Given the description of an element on the screen output the (x, y) to click on. 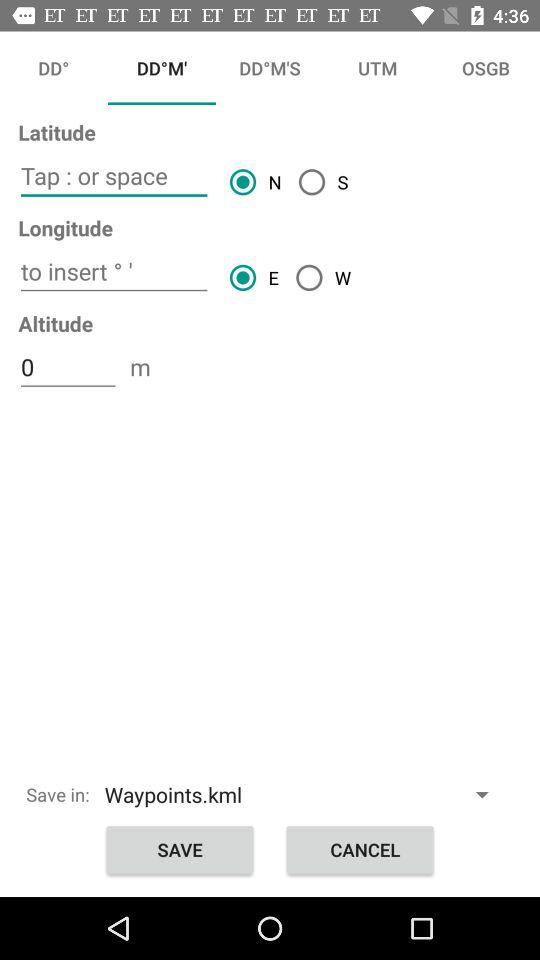
insert the article (113, 271)
